Given the description of an element on the screen output the (x, y) to click on. 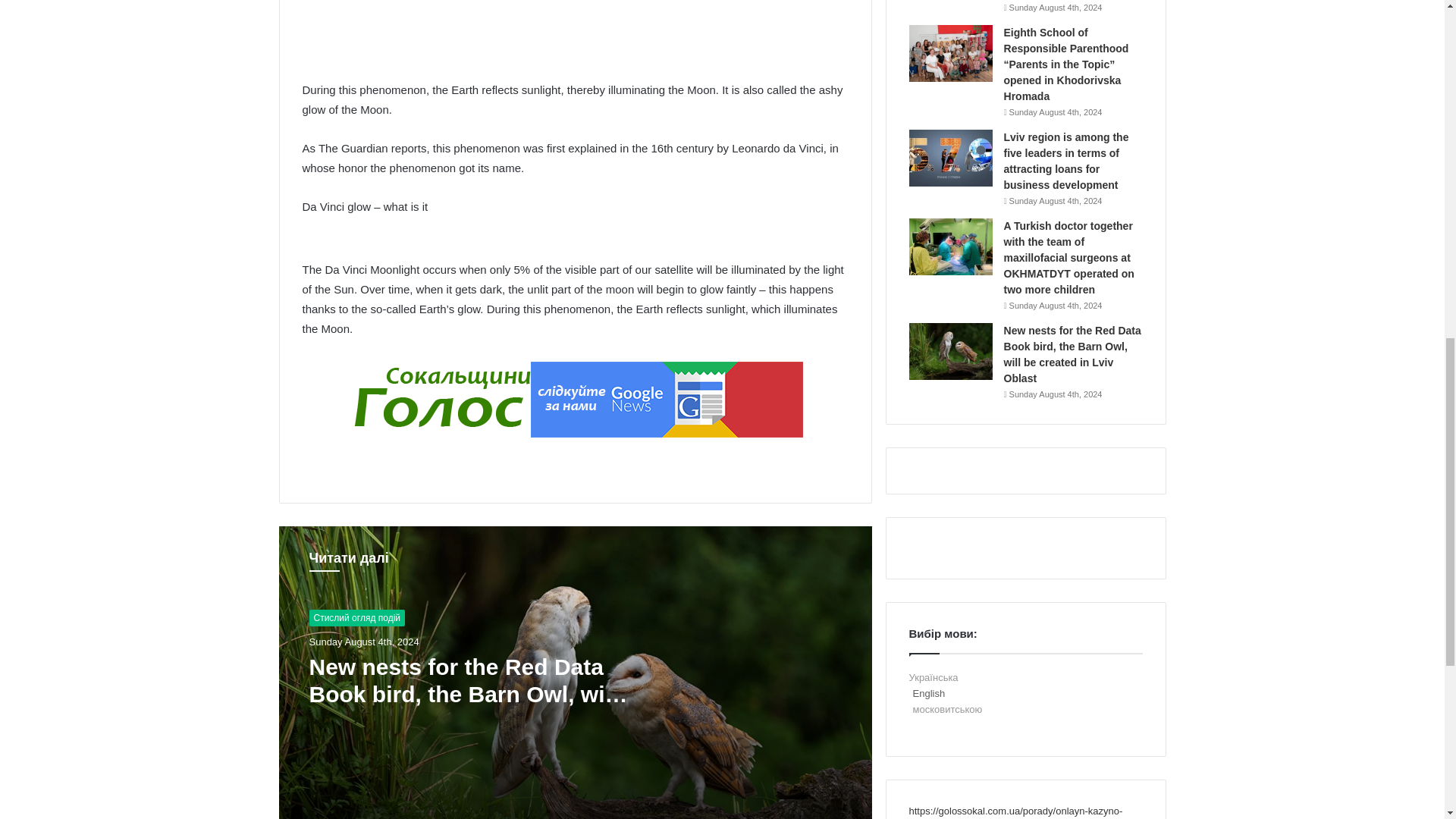
Advertisement (577, 25)
